Given the description of an element on the screen output the (x, y) to click on. 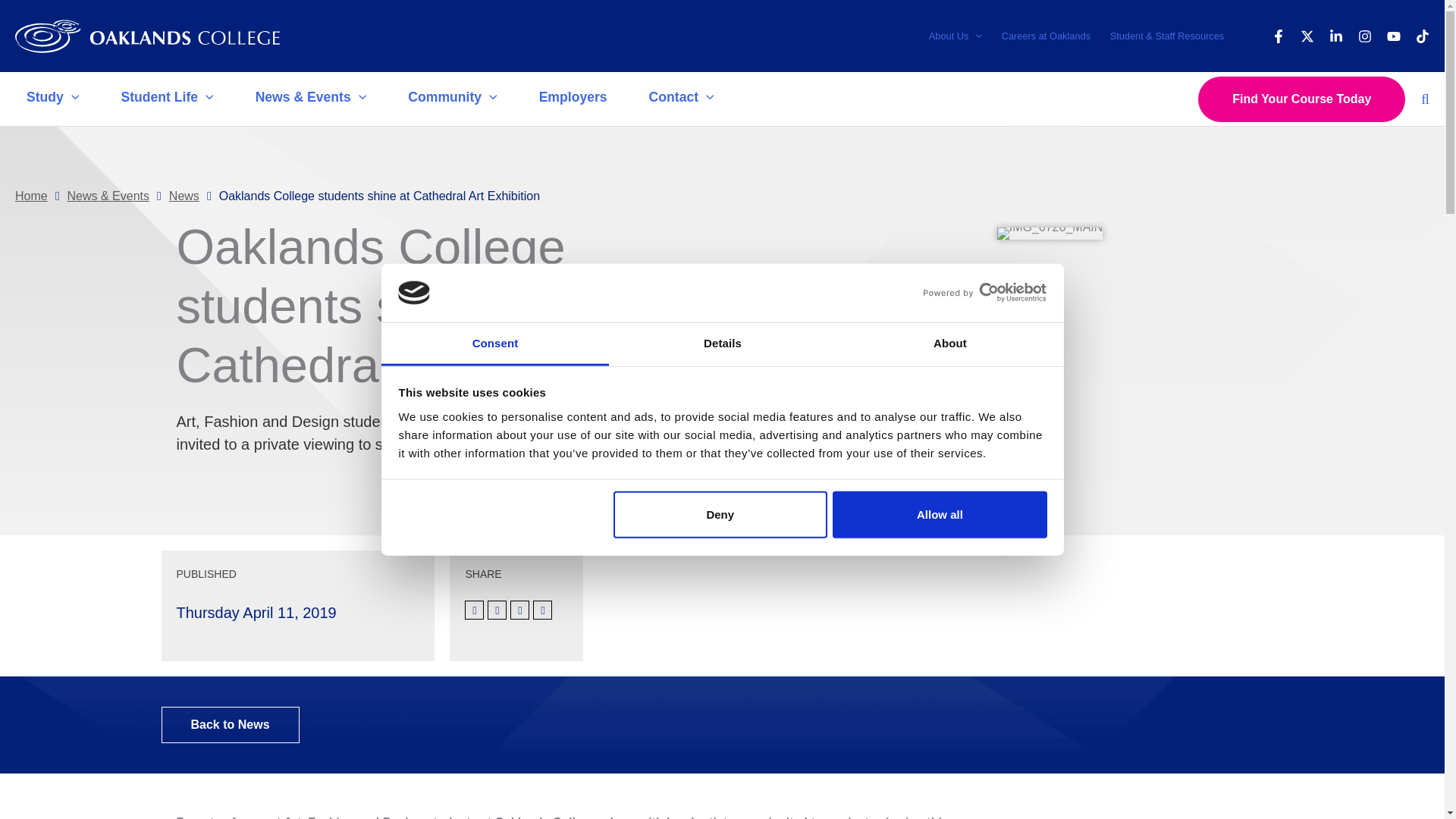
About (948, 344)
Details (721, 344)
Click Here (229, 724)
Consent (494, 344)
